Given the description of an element on the screen output the (x, y) to click on. 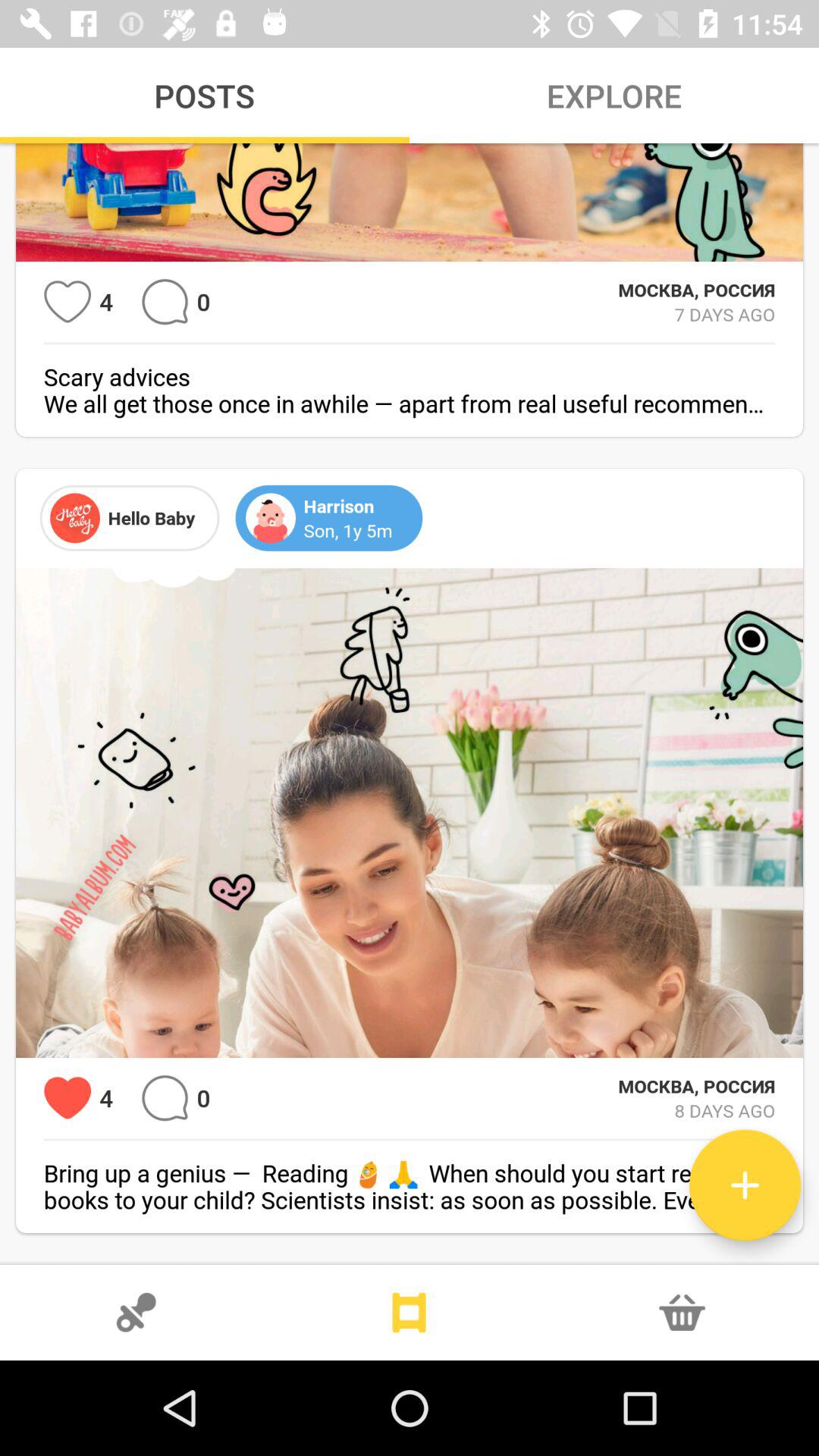
add to cart (682, 1312)
